Given the description of an element on the screen output the (x, y) to click on. 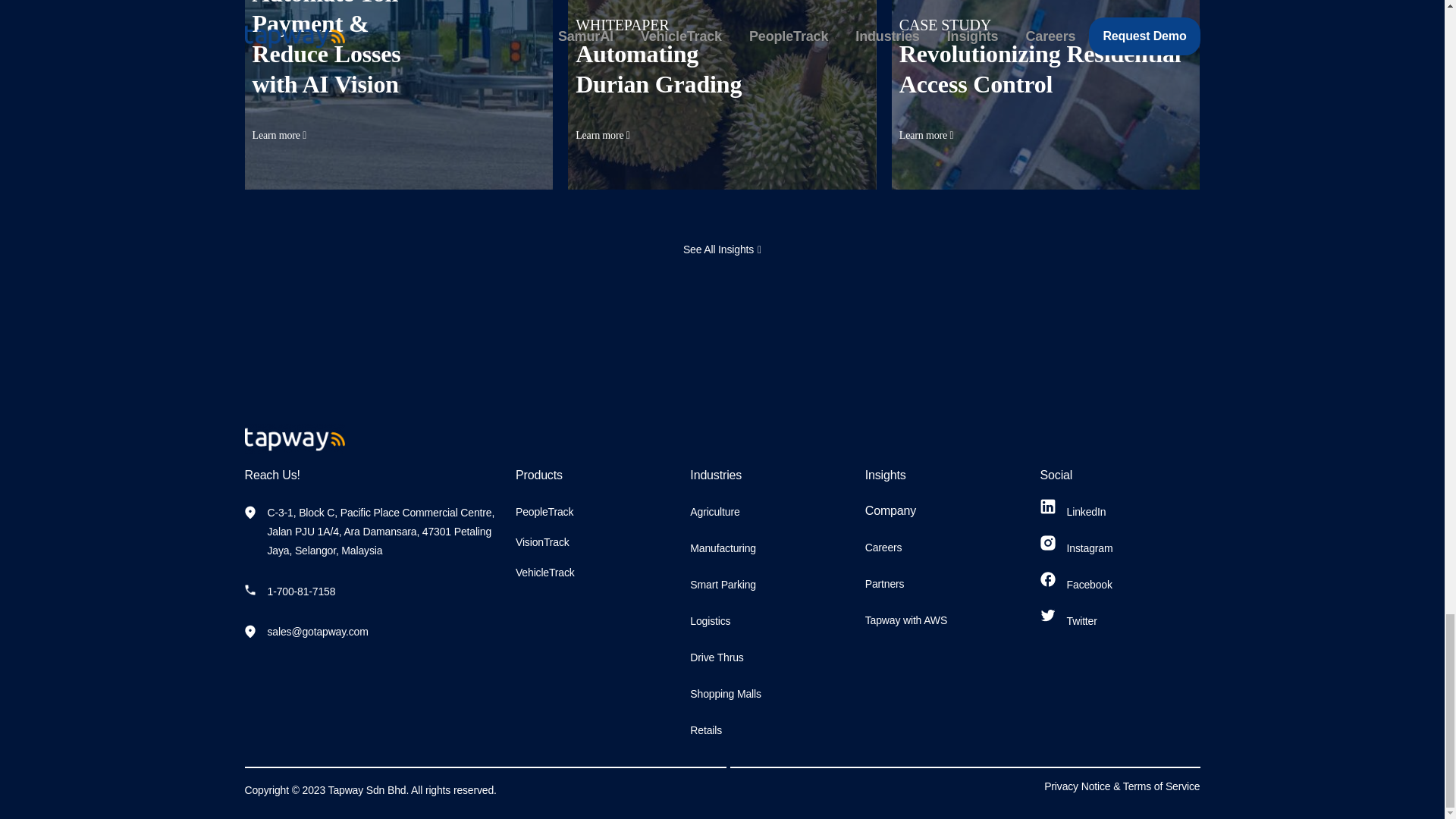
Smart Parking (722, 584)
Instagram (1077, 548)
Privacy Notice (1076, 786)
Terms of Service (1160, 786)
Retails (706, 729)
tapwayLogo-white (293, 439)
street (1045, 95)
Careers (883, 547)
See All Insights (721, 249)
Learn more (926, 134)
